Given the description of an element on the screen output the (x, y) to click on. 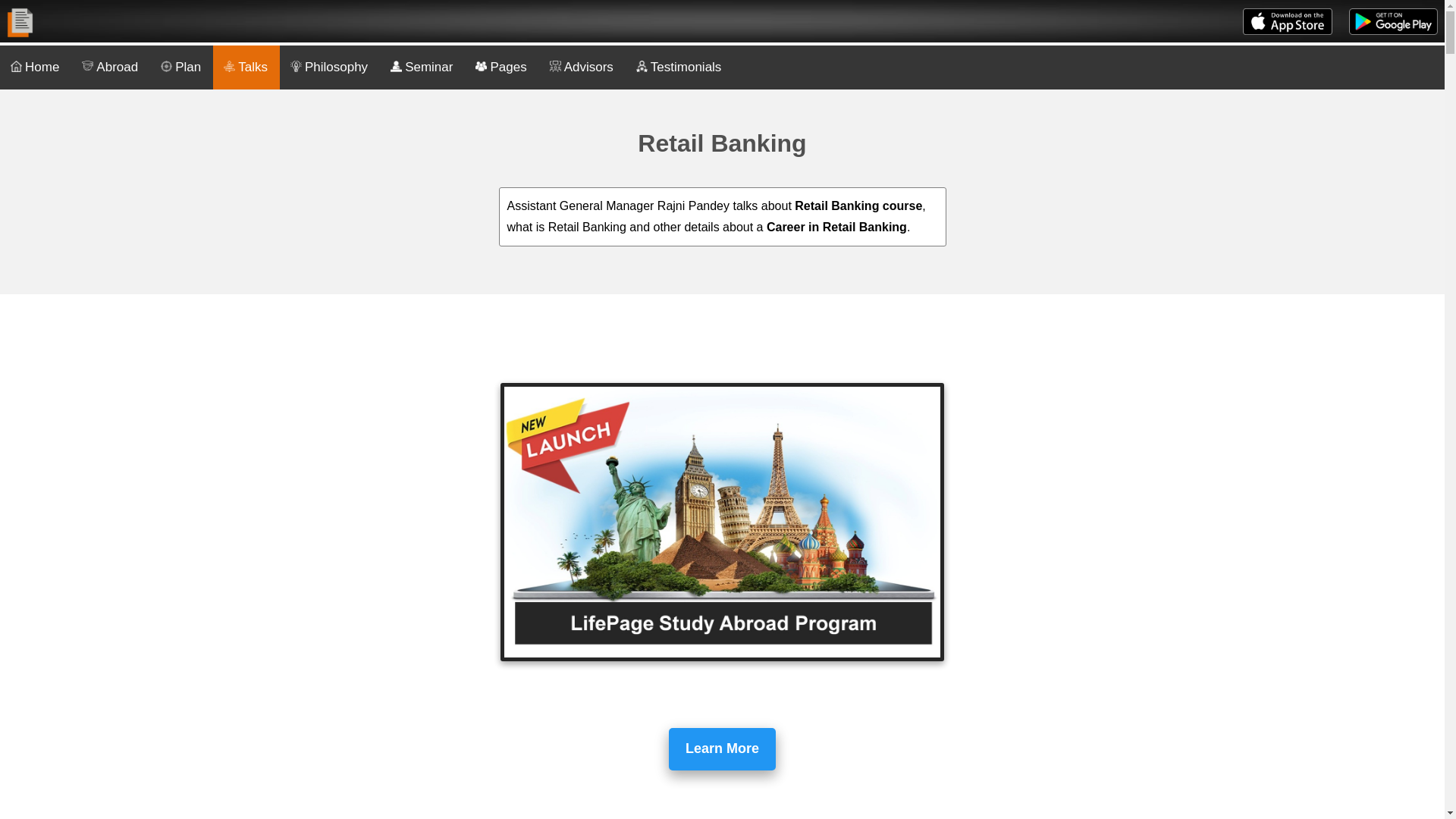
Home (35, 67)
Advisors (582, 67)
  Learn More   (721, 748)
  Learn More   (722, 749)
Seminar (422, 67)
Pages (501, 67)
Philosophy (329, 67)
Plan (180, 67)
Testimonials (679, 67)
Talks (245, 67)
Abroad (110, 67)
